Given the description of an element on the screen output the (x, y) to click on. 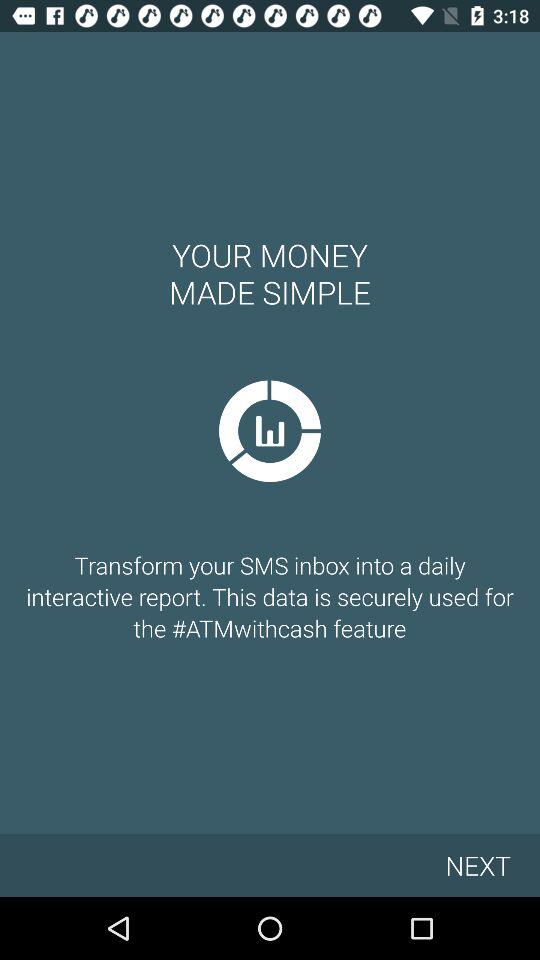
press the item at the bottom right corner (478, 864)
